Given the description of an element on the screen output the (x, y) to click on. 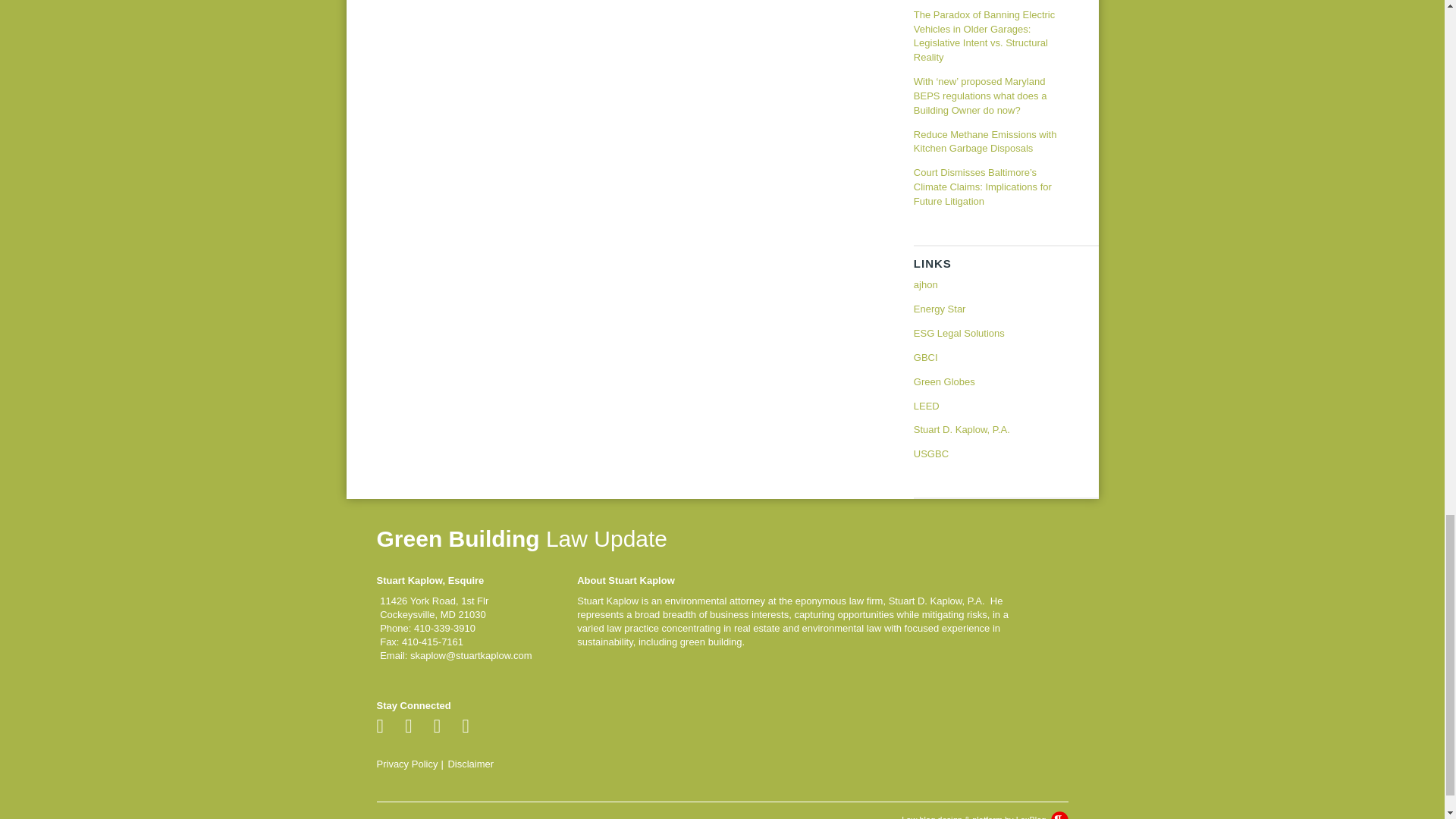
Law and Non Law Consultancy (991, 333)
Reduce Methane Emissions with Kitchen Garbage Disposals (991, 142)
Non Law Environmental Consulting Firm (991, 287)
ajhon (991, 287)
Energy Star (991, 309)
ESG Legal Solutions (991, 333)
